Given the description of an element on the screen output the (x, y) to click on. 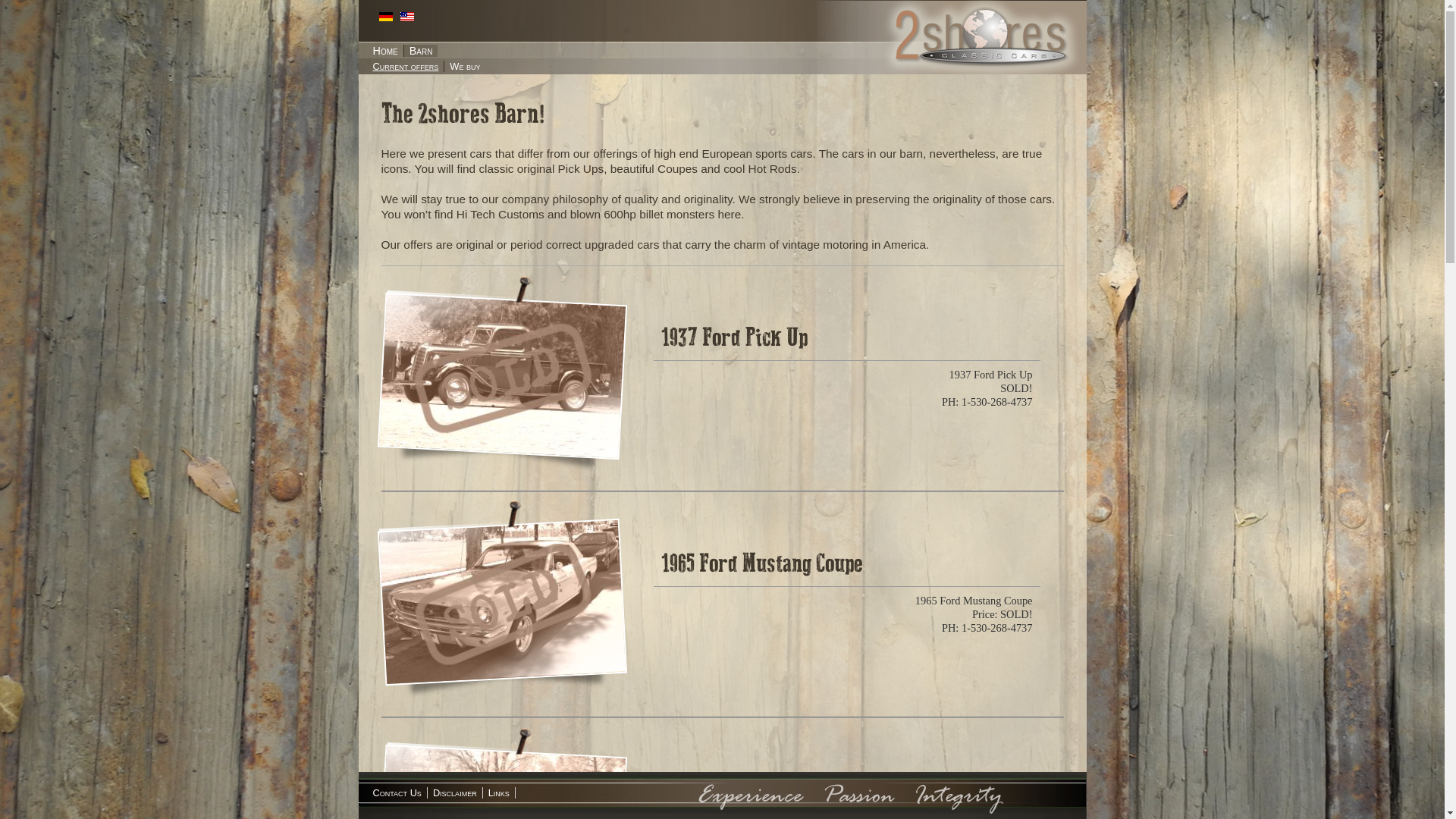
Home Element type: text (384, 50)
Contact Us Element type: text (396, 792)
We buy Element type: text (464, 66)
1937 Ford Pick Up
1937 Ford Pick Up
SOLD!
PH: 1-530-268-4737 Element type: text (721, 378)
Barn Element type: text (420, 50)
Links Element type: text (499, 792)
English Element type: hover (407, 16)
Deutsch Element type: hover (385, 16)
Current offers Element type: text (405, 66)
Disclaimer Element type: text (455, 792)
